Given the description of an element on the screen output the (x, y) to click on. 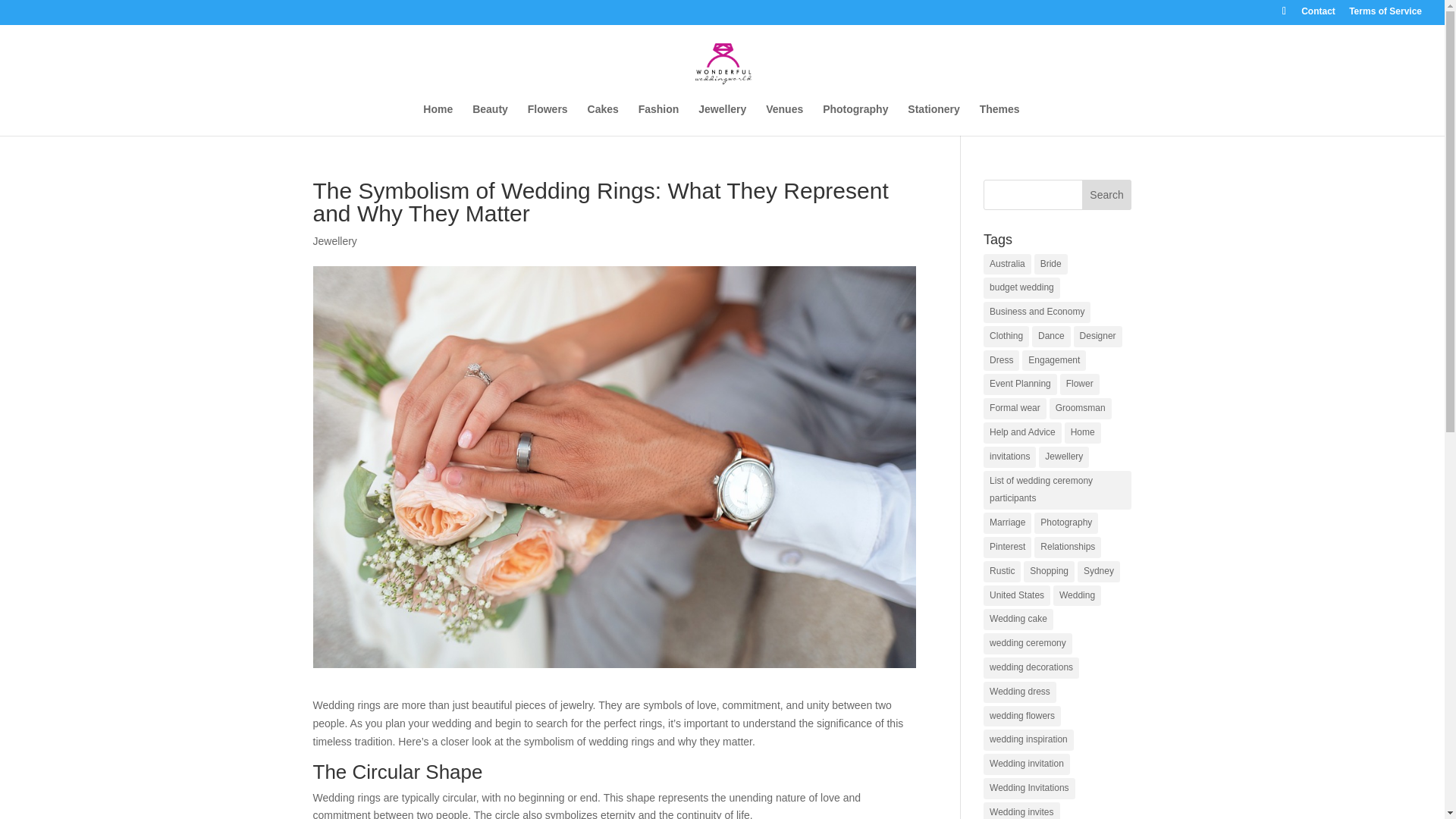
Jewellery (1064, 456)
Stationery (933, 119)
Terms of Service (1385, 14)
Marriage (1007, 522)
Contact (1318, 14)
Photography (1065, 522)
Jewellery (721, 119)
Designer (1098, 336)
Bride (1050, 263)
Jewellery (334, 241)
